Given the description of an element on the screen output the (x, y) to click on. 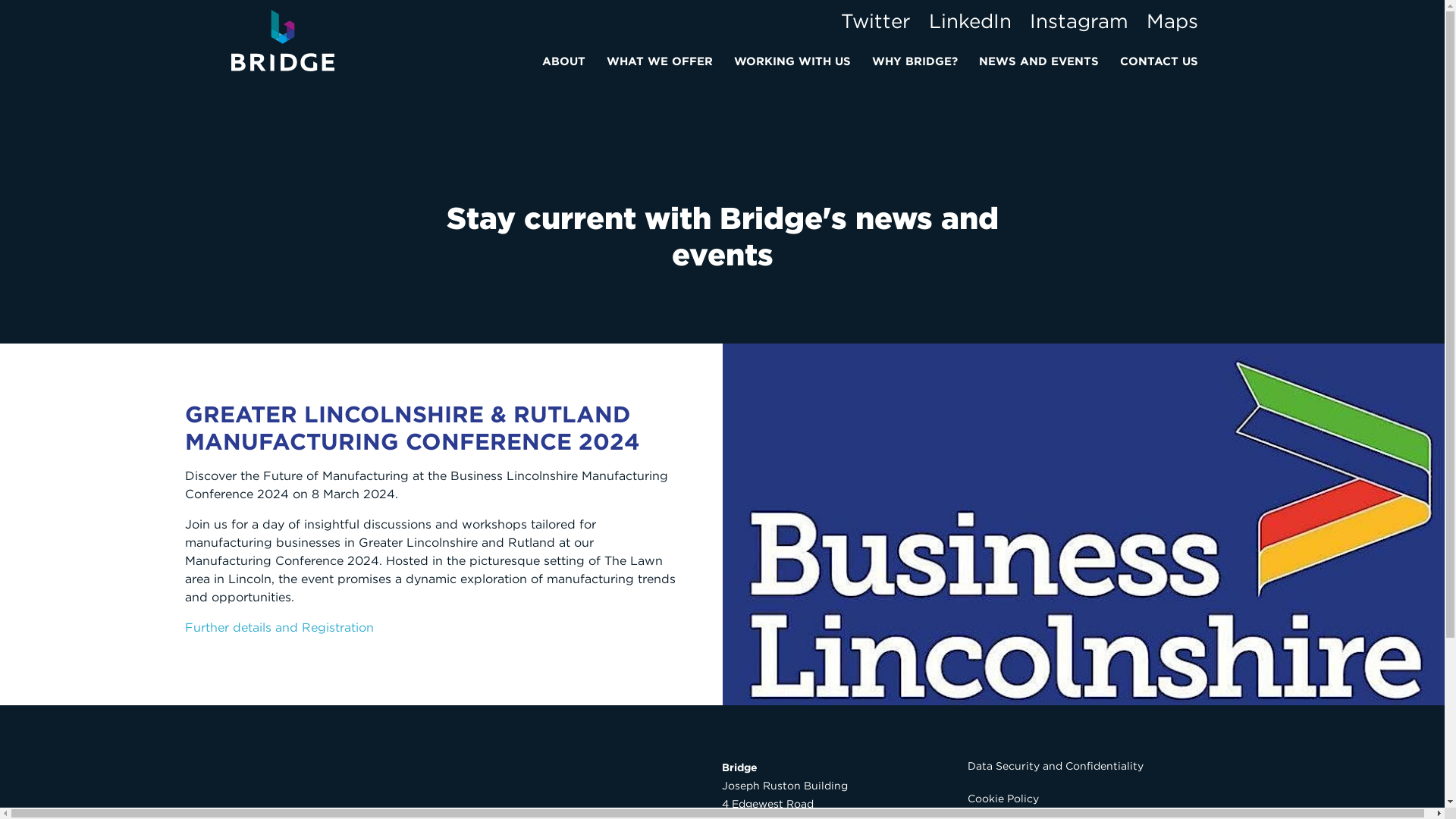
Maps (1172, 20)
Twitter (876, 20)
Instagram (1078, 20)
Further details and Registration (279, 626)
LinkedIn (969, 20)
CONTACT US (1162, 58)
ABOUT (567, 58)
WORKING WITH US (797, 58)
WHY BRIDGE? (919, 58)
NEWS AND EVENTS (1042, 58)
